Given the description of an element on the screen output the (x, y) to click on. 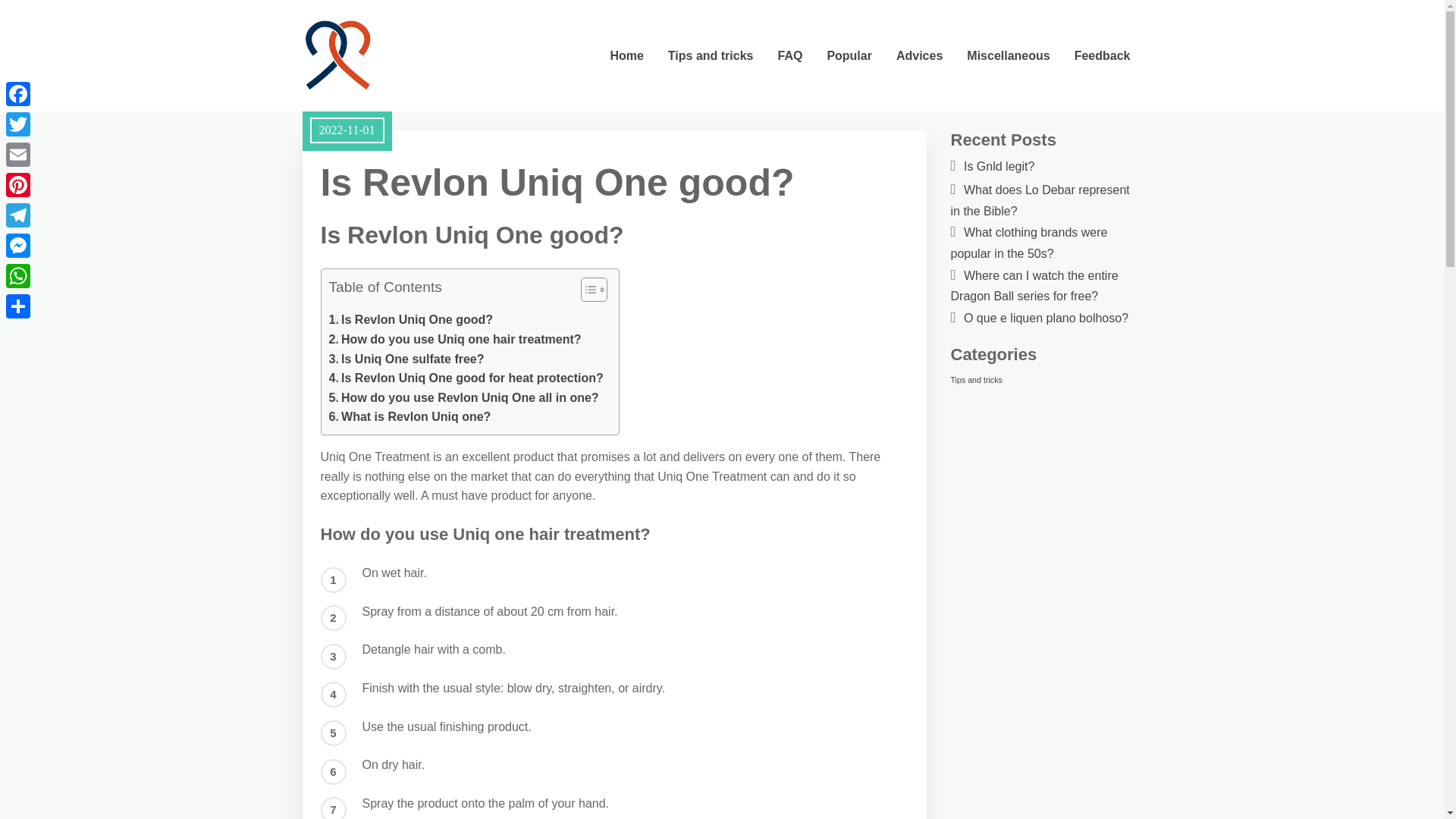
FAQ (789, 54)
Twitter (17, 123)
Popular (848, 54)
Facebook (17, 93)
Miscellaneous (1008, 54)
What is Revlon Uniq one? (410, 416)
Is Revlon Uniq One good for heat protection? (466, 378)
Pinterest (17, 184)
Is Revlon Uniq One good for heat protection? (466, 378)
Advices (919, 54)
